Given the description of an element on the screen output the (x, y) to click on. 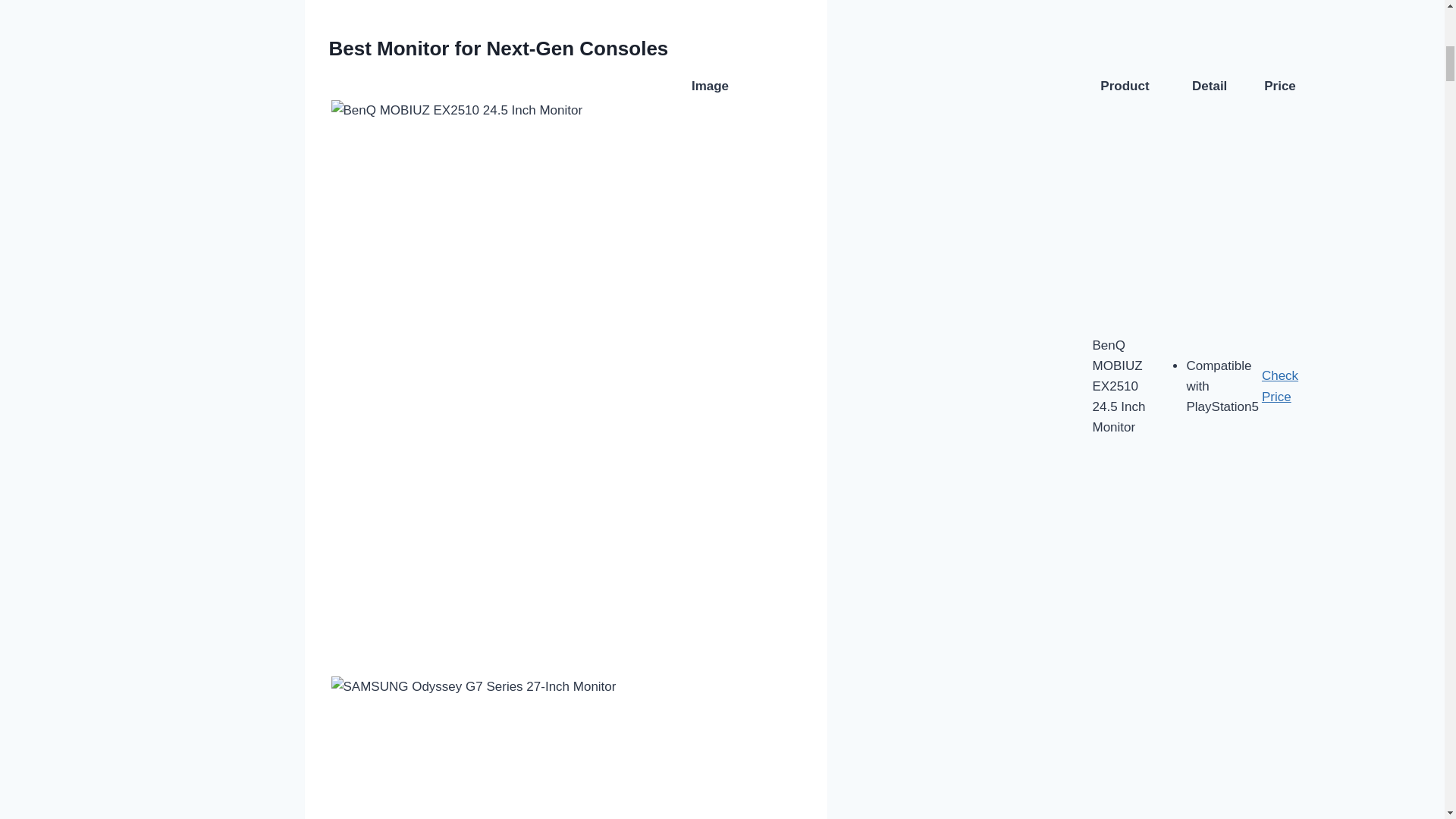
Check Price (1280, 385)
